Given the description of an element on the screen output the (x, y) to click on. 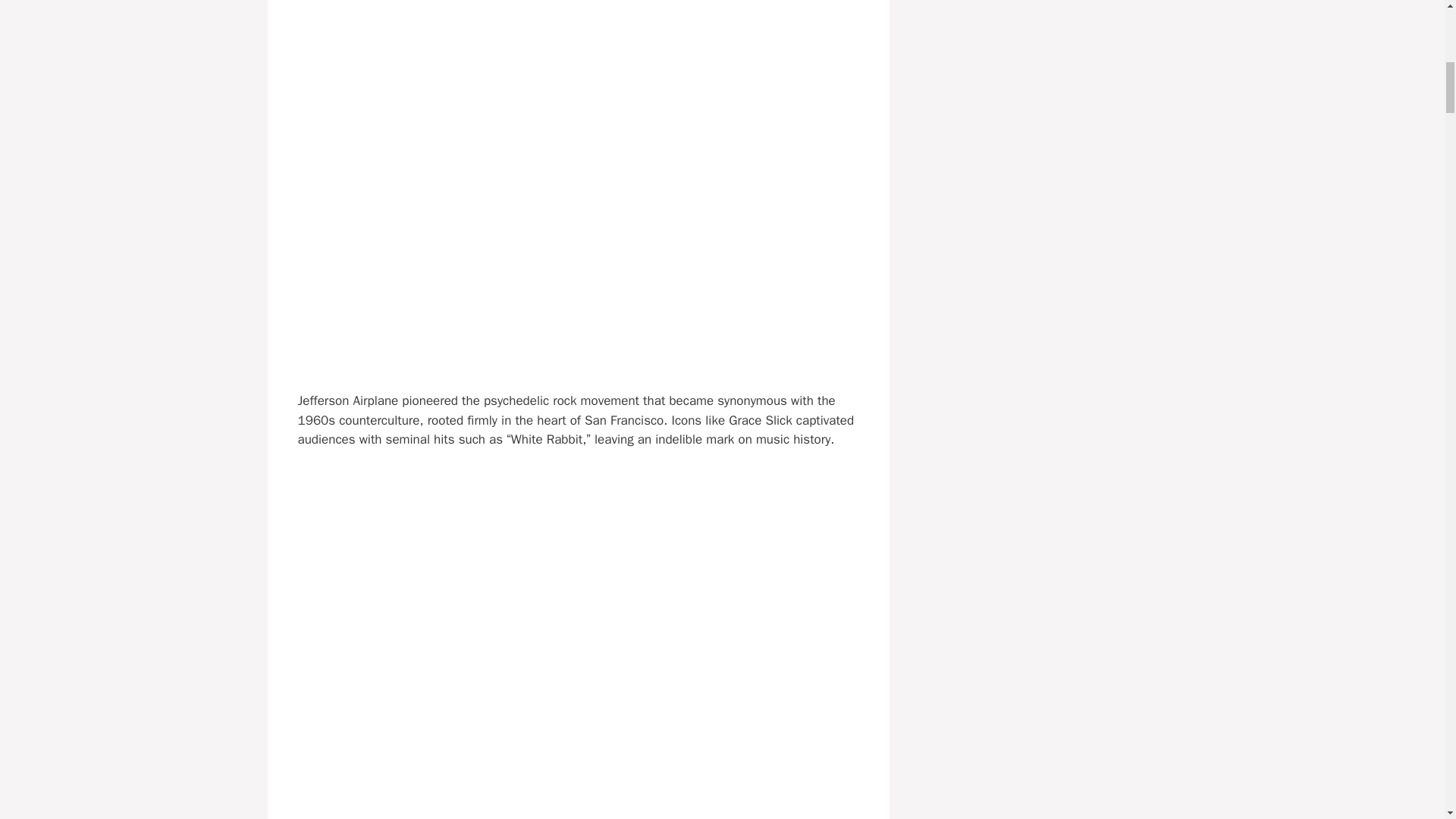
Jefferson Airplane -White Rabbit- (578, 799)
